Given the description of an element on the screen output the (x, y) to click on. 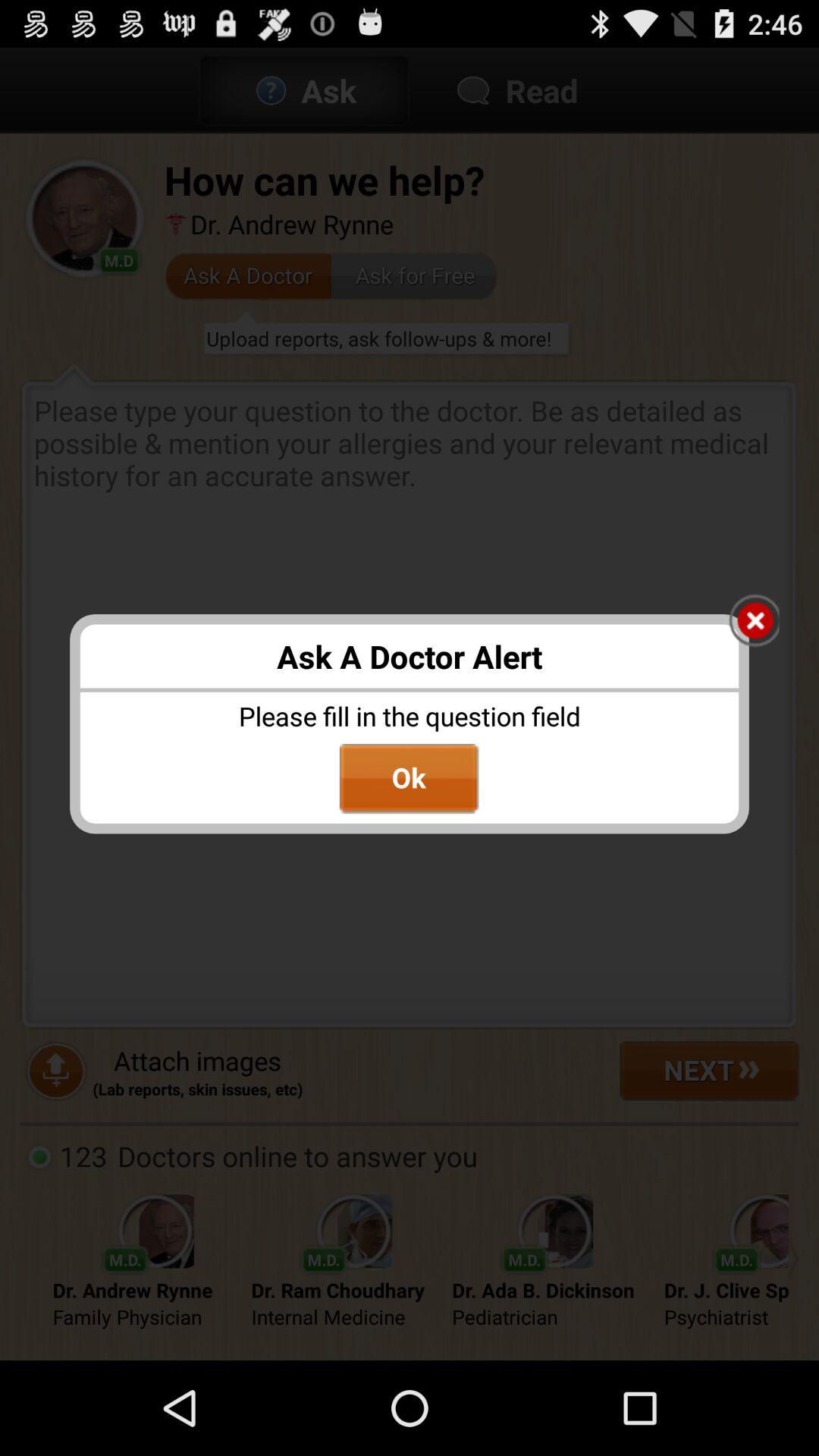
press ok button (408, 778)
